Given the description of an element on the screen output the (x, y) to click on. 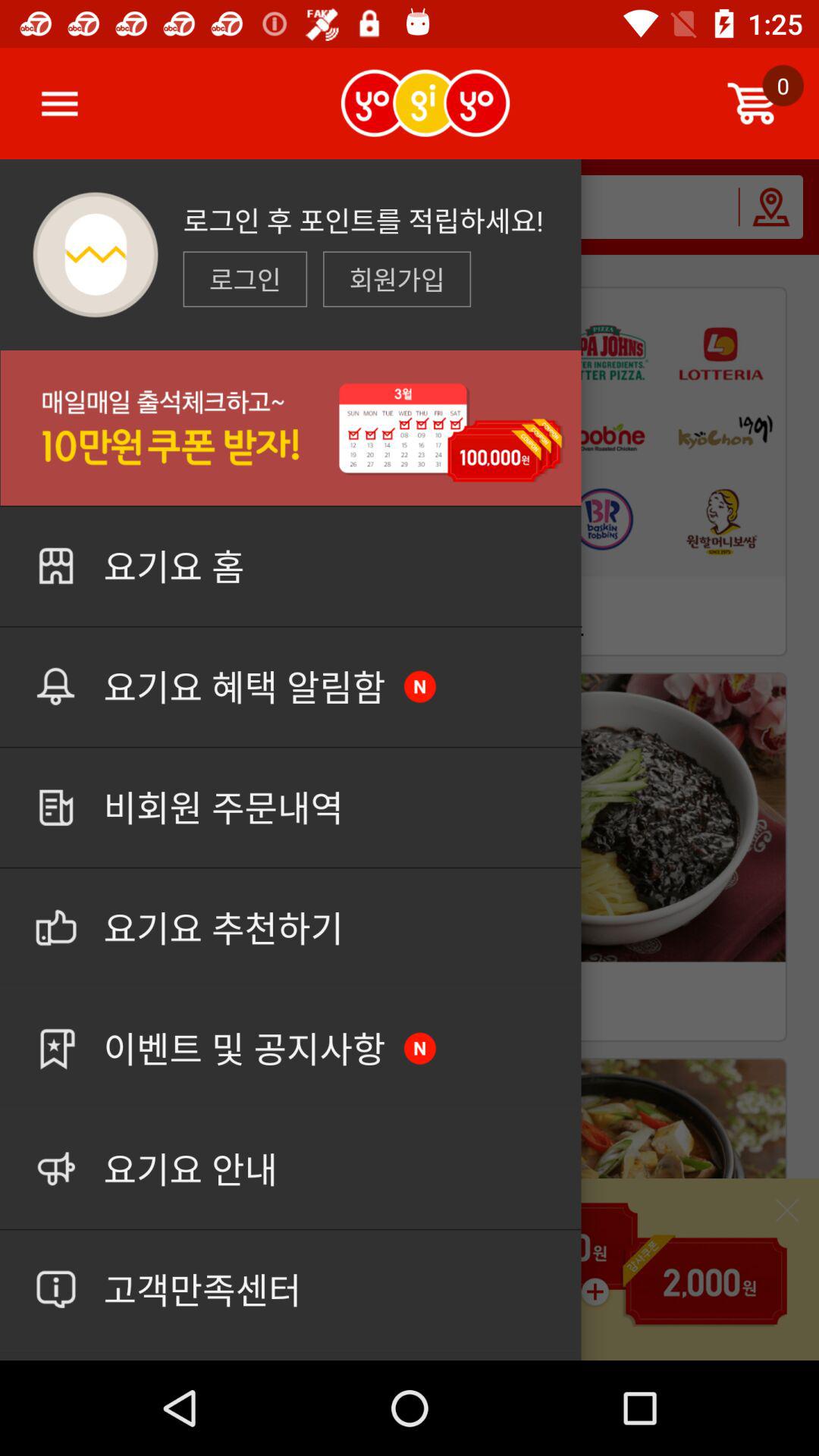
select the red color alphabet in the 3rd option from the bottom (420, 1048)
click on the text which is above the calander (396, 279)
